Given the description of an element on the screen output the (x, y) to click on. 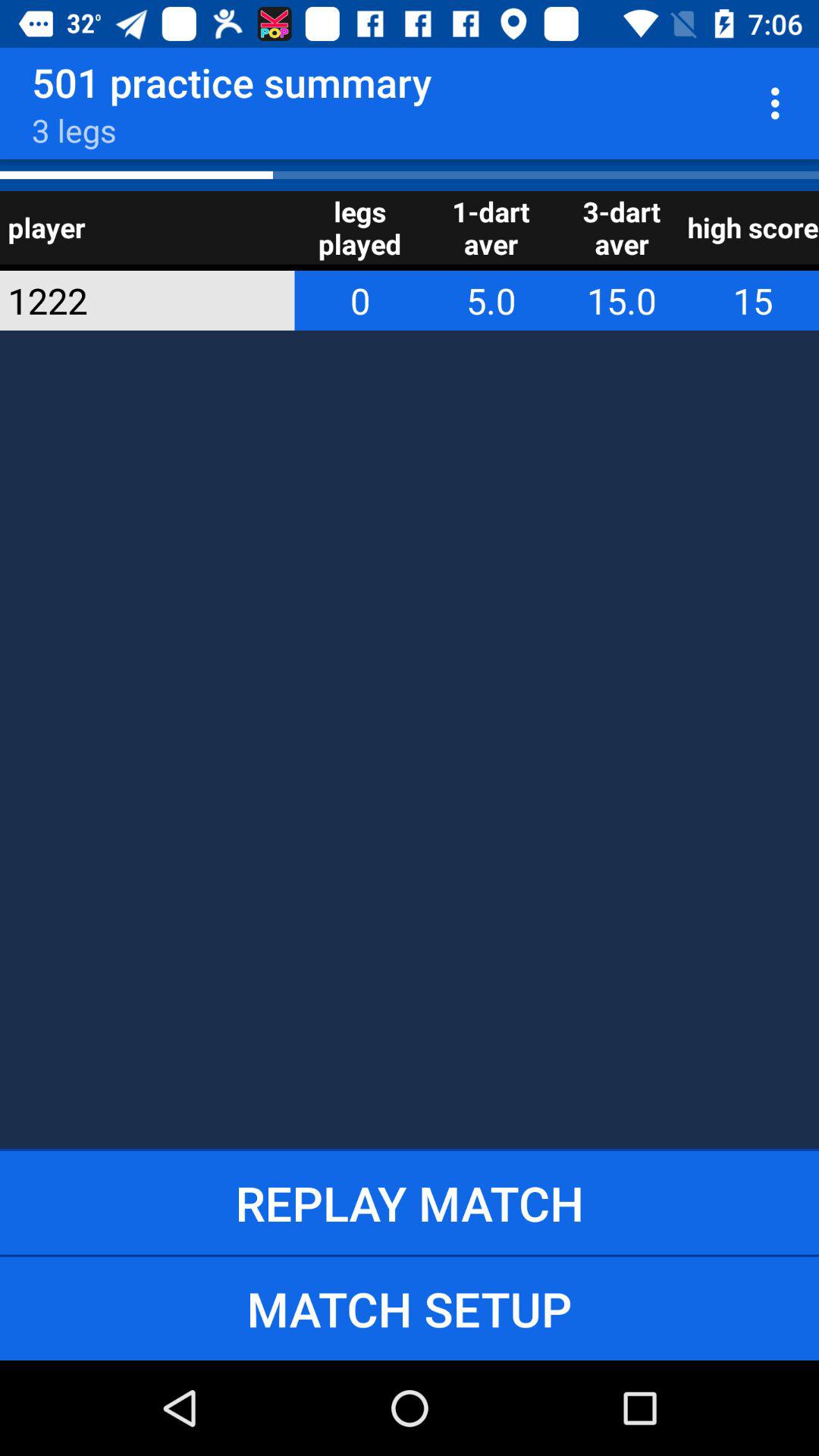
select the button below replay match icon (409, 1308)
